Given the description of an element on the screen output the (x, y) to click on. 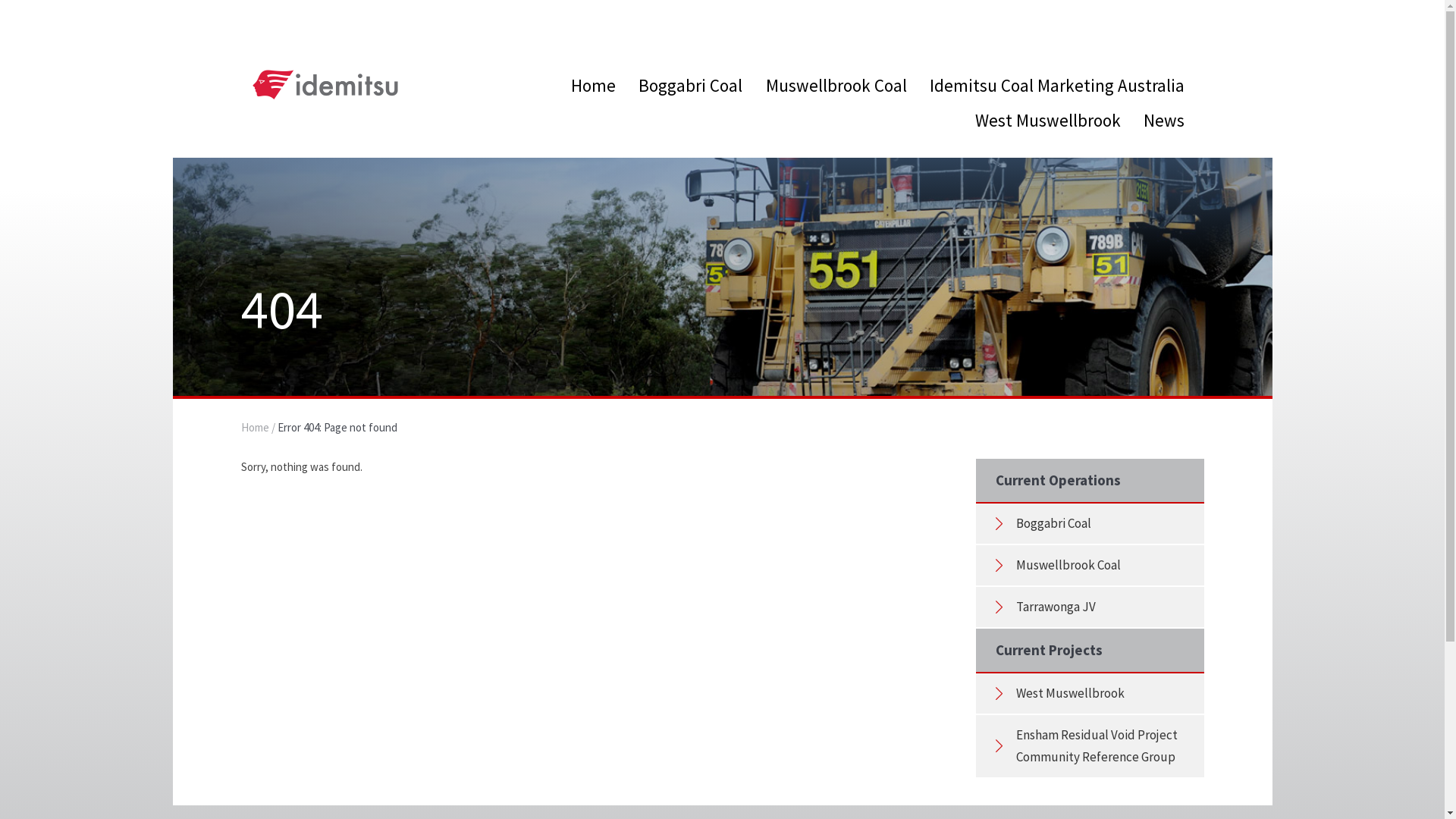
Boggabri Coal Element type: text (1053, 522)
Muswellbrook Coal Element type: text (835, 85)
Ensham Residual Void Project Community Reference Group Element type: text (1096, 745)
Idemitsu Coal Marketing Australia Element type: text (1056, 85)
Home Element type: text (255, 427)
Boggabri Coal Element type: text (690, 85)
West Muswellbrook Element type: text (1070, 692)
Tarrawonga JV Element type: text (1055, 606)
Home Element type: text (593, 85)
Muswellbrook Coal Element type: text (1068, 564)
West Muswellbrook Element type: text (1047, 120)
News Element type: text (1163, 120)
